Given the description of an element on the screen output the (x, y) to click on. 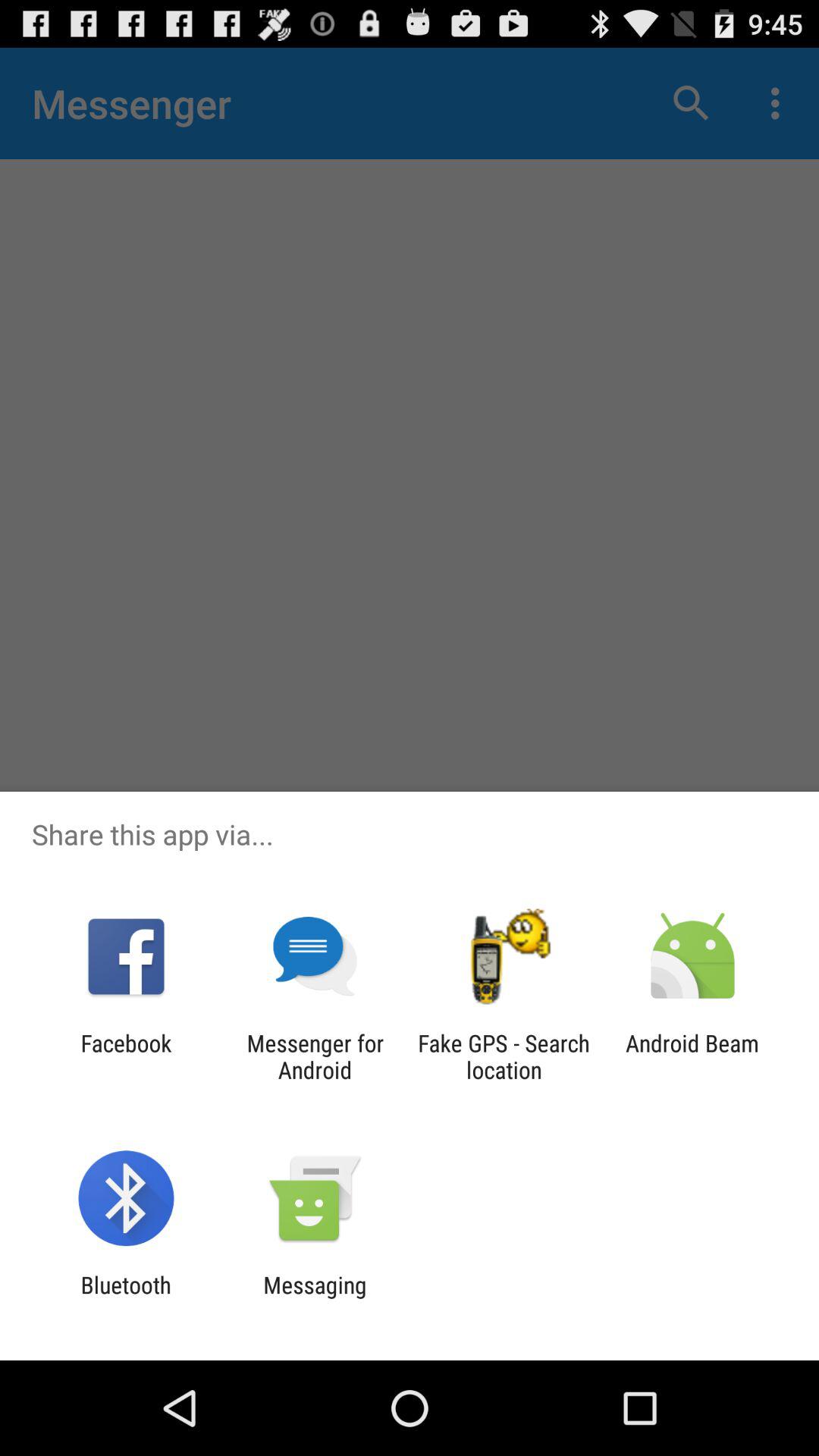
tap app next to the fake gps search app (692, 1056)
